Given the description of an element on the screen output the (x, y) to click on. 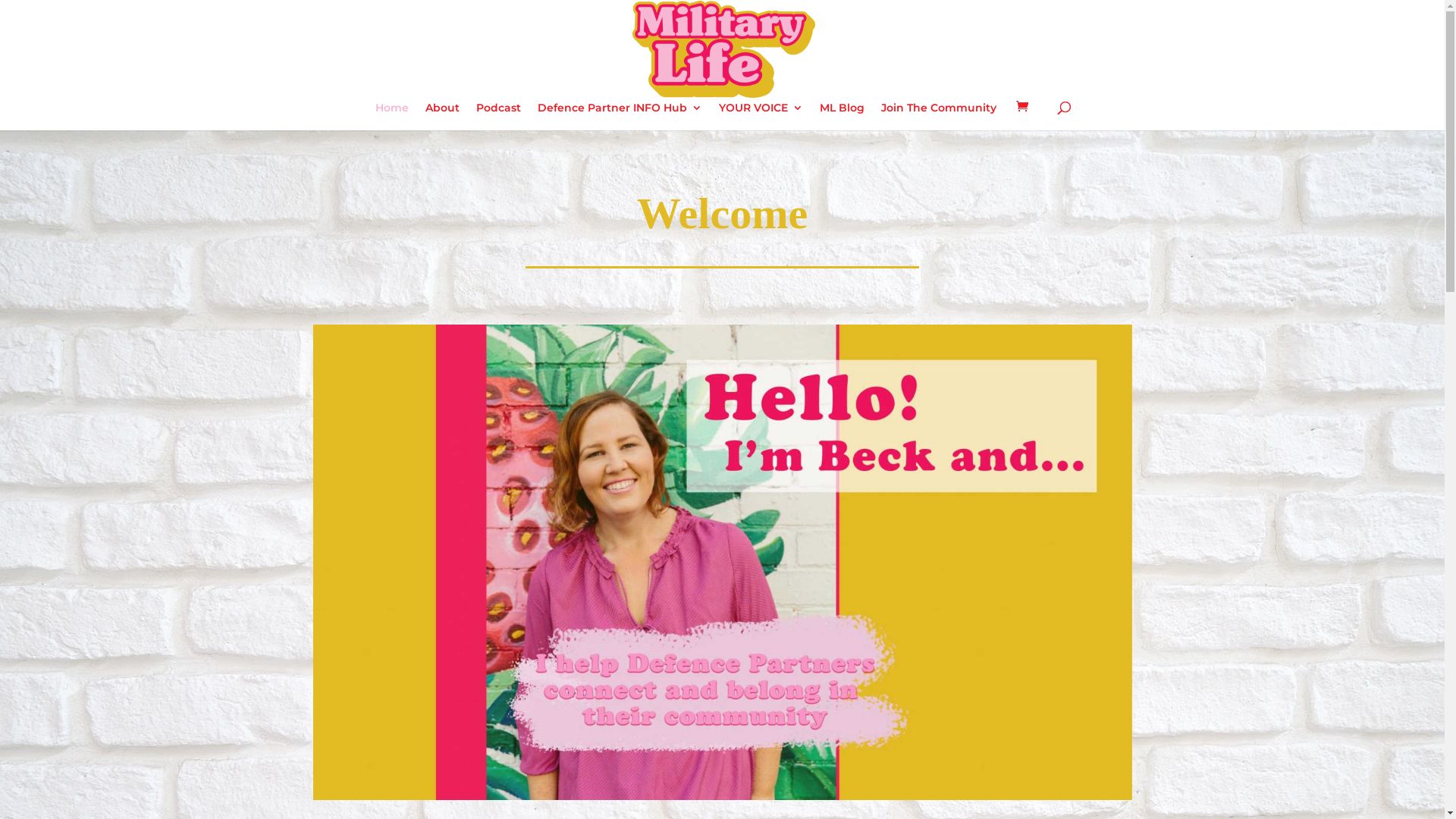
About Element type: text (442, 116)
Join The Community Element type: text (938, 116)
Defence Partner INFO Hub Element type: text (619, 116)
ML Blog Element type: text (841, 116)
Home Element type: text (391, 116)
front-page-scaled (1) Element type: hover (721, 562)
Podcast Element type: text (498, 116)
YOUR VOICE Element type: text (760, 116)
